Given the description of an element on the screen output the (x, y) to click on. 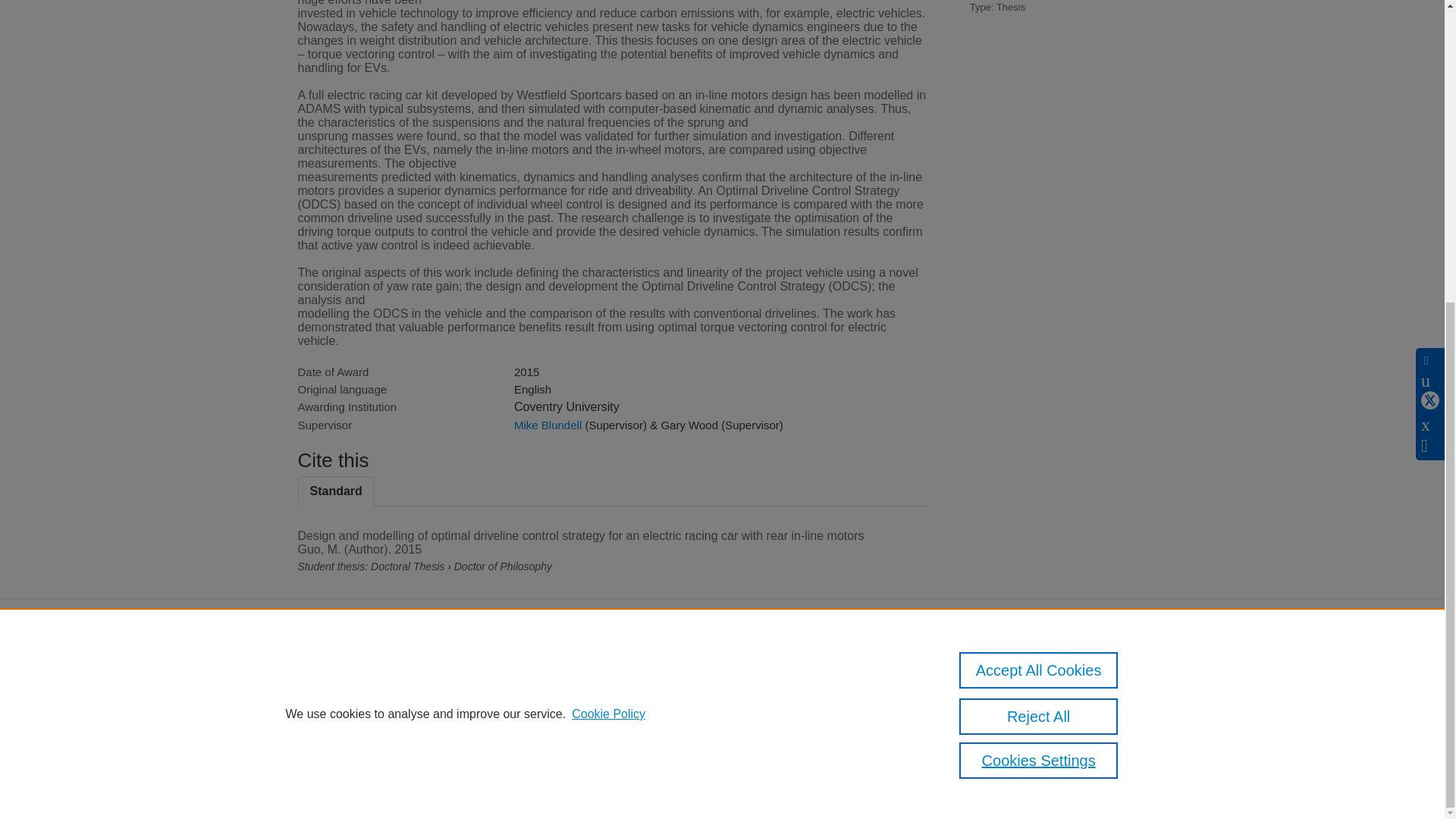
Coventry University data protection policy (1008, 680)
Pure (362, 674)
Cookie Policy (608, 241)
Contact us (1123, 680)
About web accessibility (1006, 706)
Accept All Cookies (1038, 197)
Log in to Pure (327, 767)
Scopus (394, 674)
Report vulnerability (997, 726)
Reject All (1038, 244)
